Given the description of an element on the screen output the (x, y) to click on. 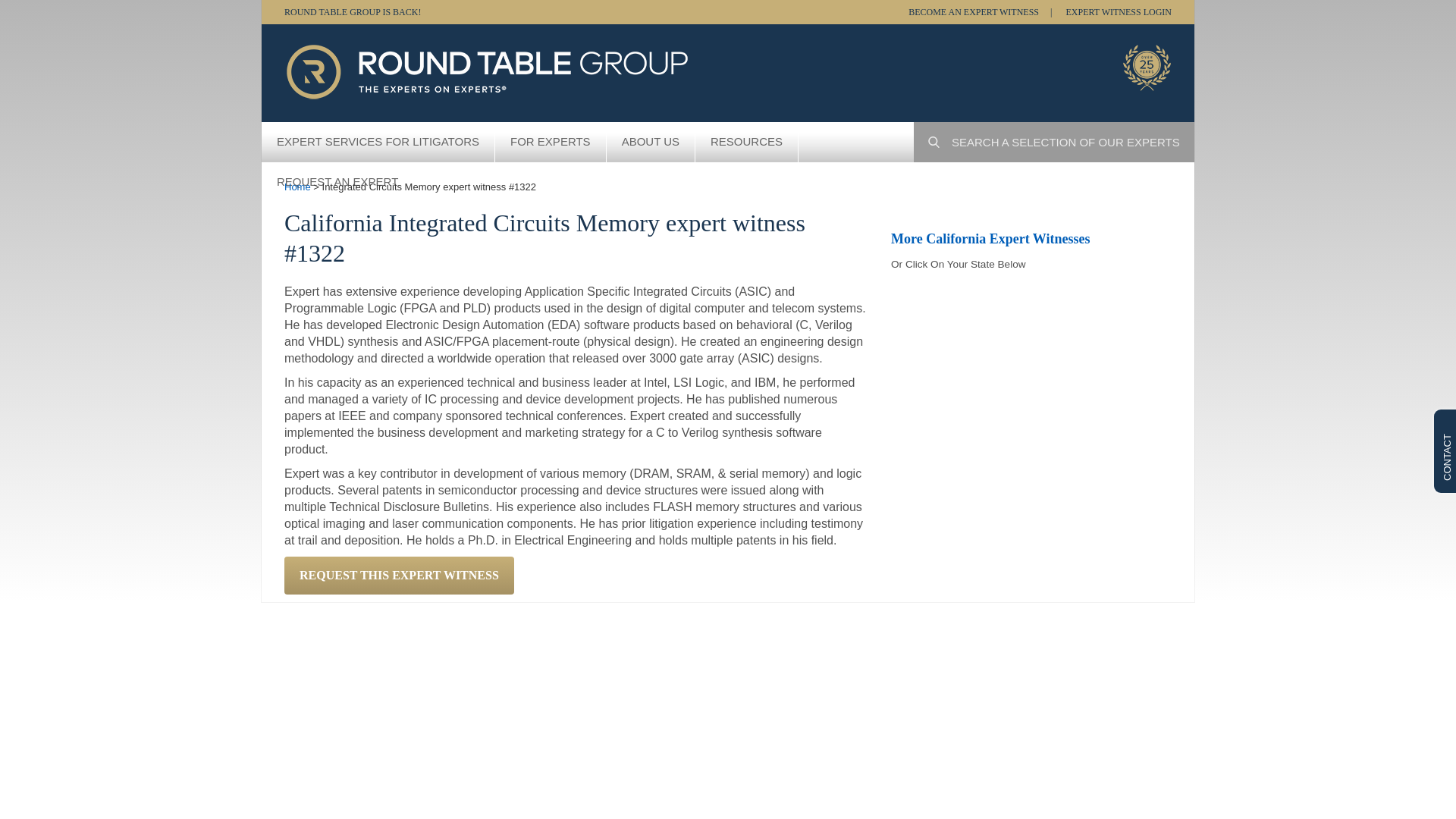
REQUEST AN EXPERT (337, 182)
ABOUT US (651, 142)
EXPERT SERVICES FOR LITIGATORS (378, 142)
RESOURCES (746, 142)
FOR EXPERTS (551, 142)
BECOME AN EXPERT WITNESS (979, 12)
EXPERT WITNESS LOGIN (1118, 12)
ROUND TABLE GROUP IS BACK! (351, 12)
